Given the description of an element on the screen output the (x, y) to click on. 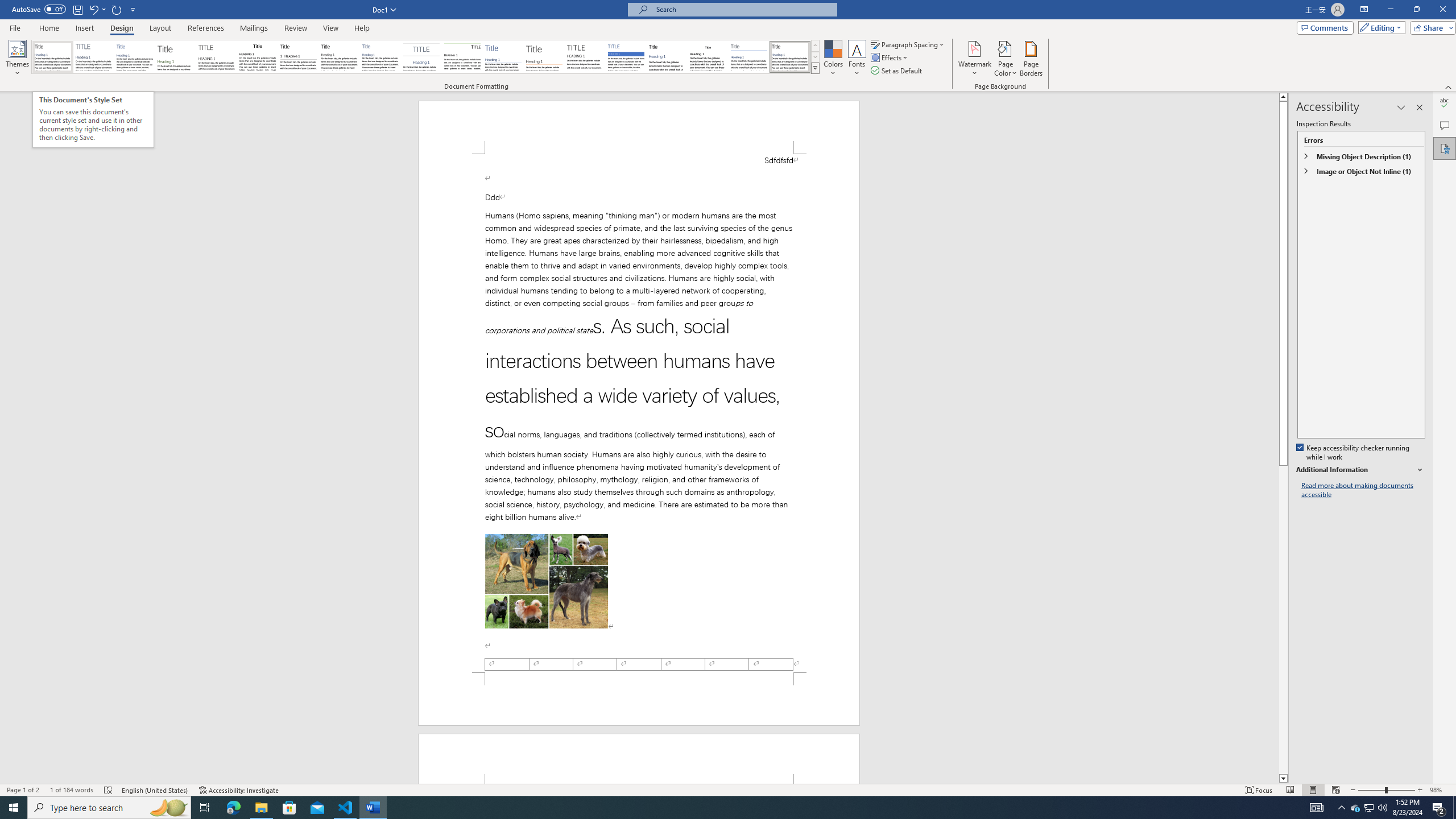
Accessibility (1444, 147)
Editing (1379, 27)
Word (666, 56)
Line up (1283, 96)
Undo Apply Quick Style Set (96, 9)
Additional Information (1360, 469)
Black & White (Word 2013) (338, 56)
